Given the description of an element on the screen output the (x, y) to click on. 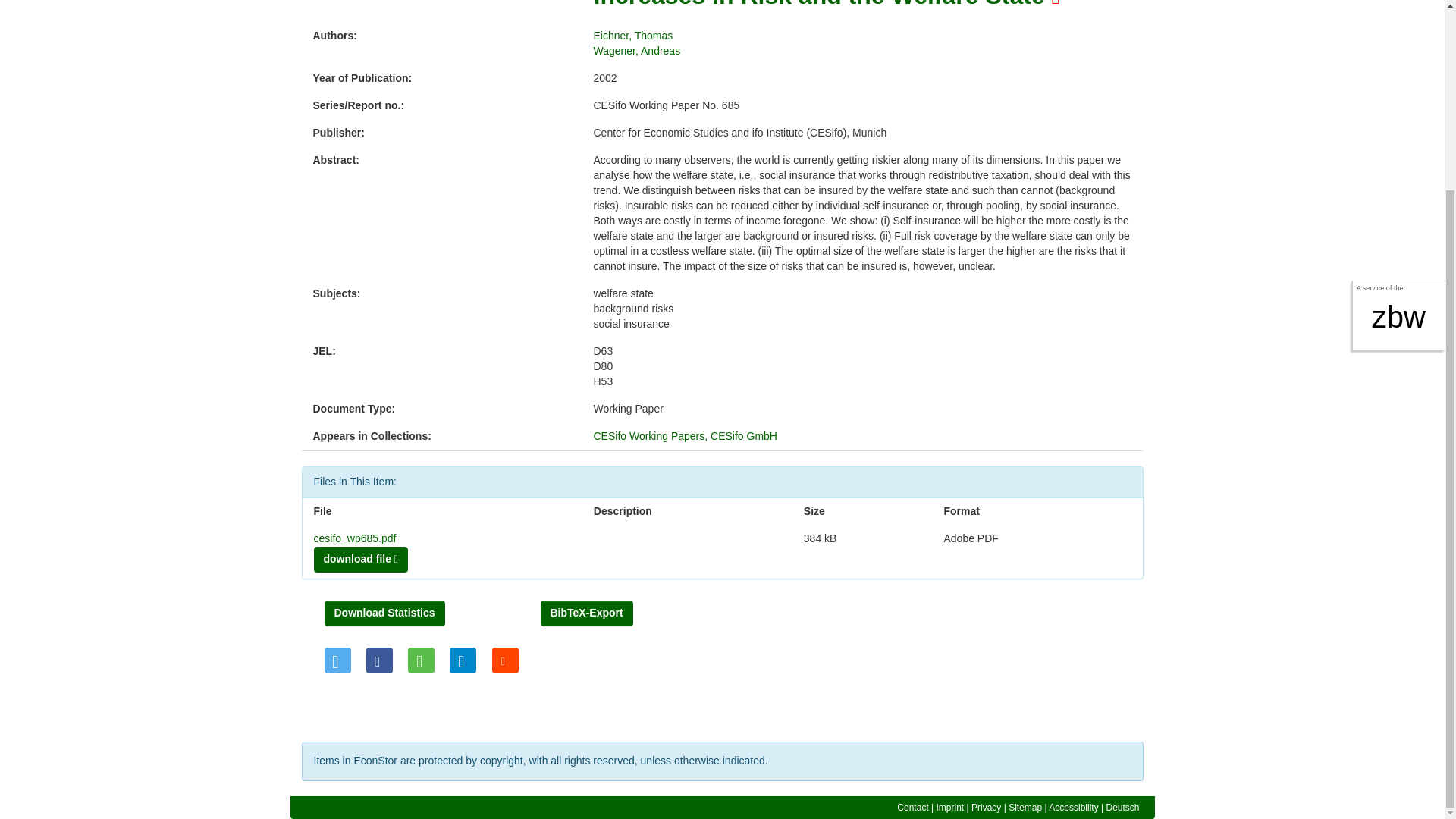
zbw (1398, 79)
Bei Twitter teilen (337, 660)
Bei Telegram teilen (462, 660)
Bei Whatsapp teilen (420, 660)
Bei Facebook teilen (379, 660)
Bei Reddit teilen (505, 660)
